Given the description of an element on the screen output the (x, y) to click on. 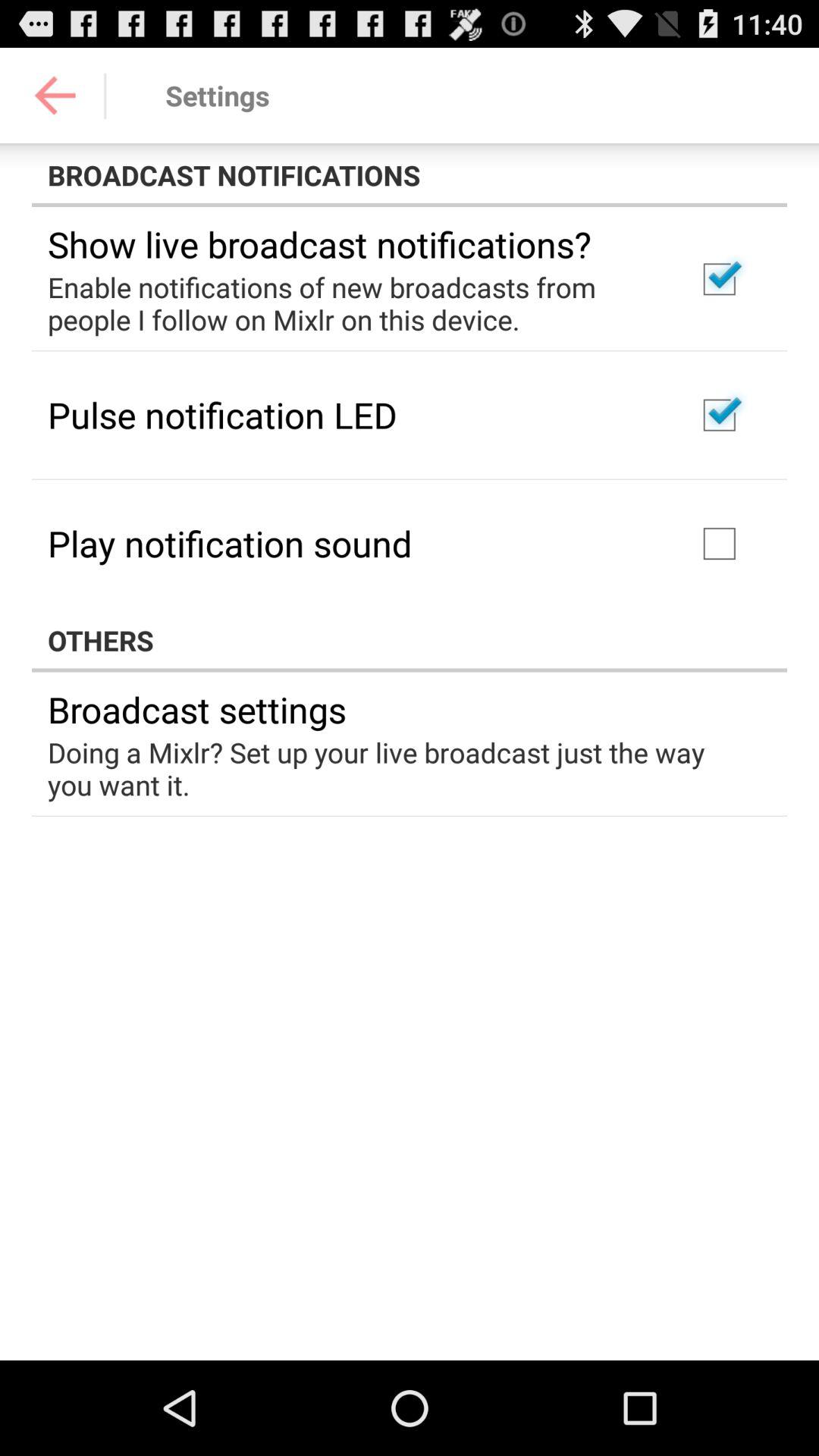
flip to the doing a mixlr item (399, 768)
